Given the description of an element on the screen output the (x, y) to click on. 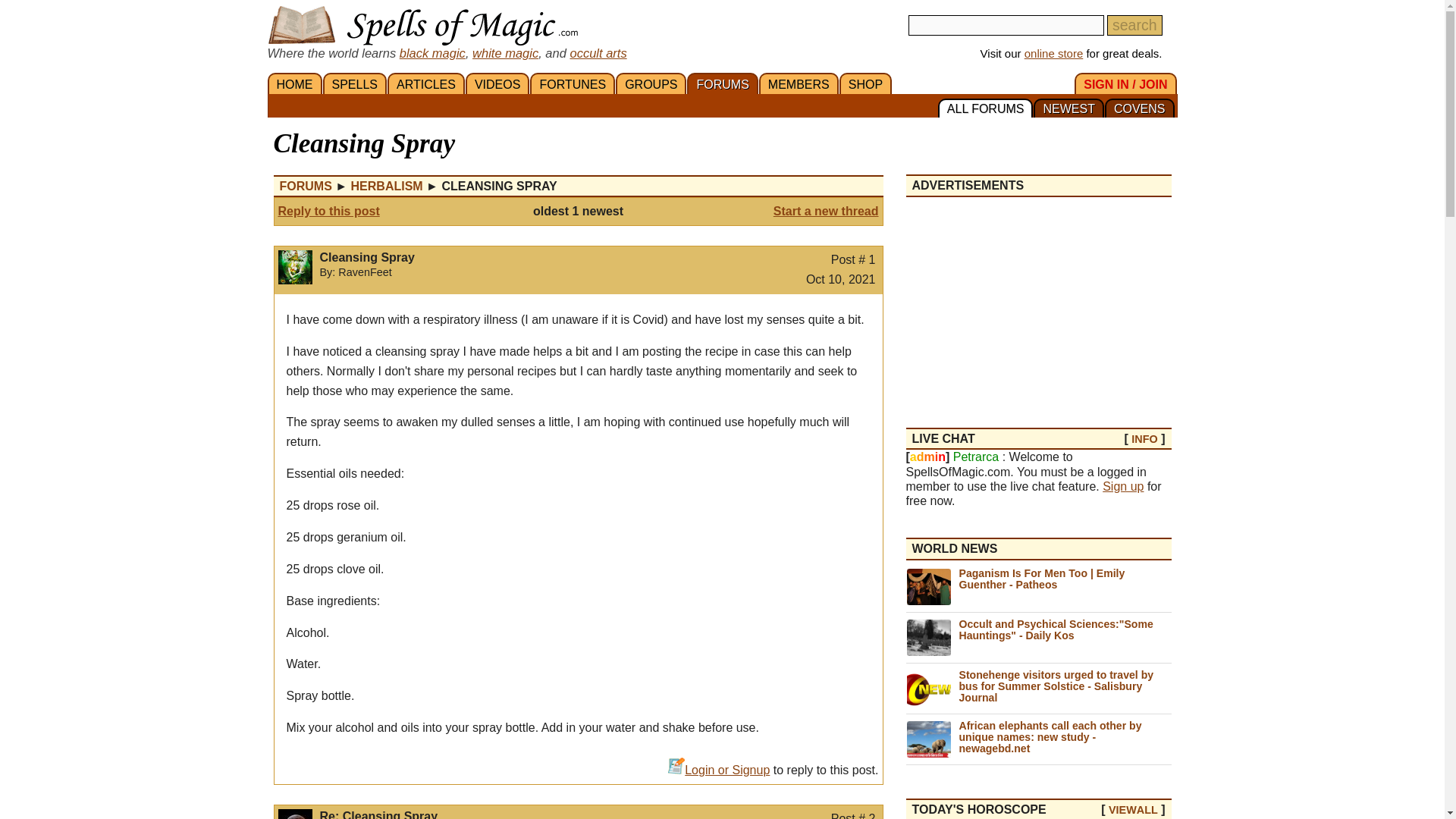
black magic (431, 52)
occult arts (597, 52)
SPELLS (355, 83)
online store (1054, 52)
search (1133, 25)
white magic (504, 52)
HOME (293, 83)
search (1133, 25)
